Given the description of an element on the screen output the (x, y) to click on. 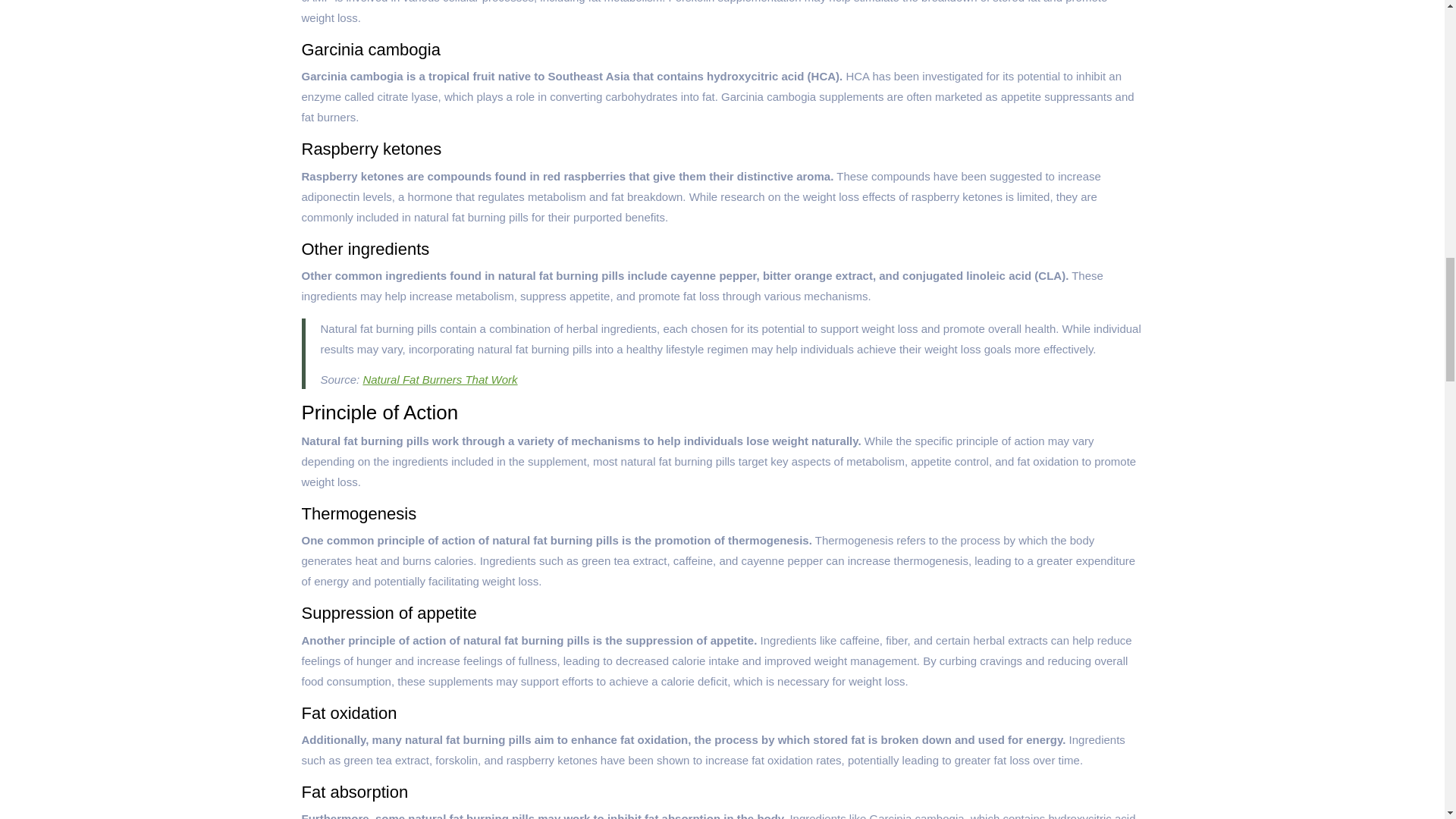
Natural Fat Burners That Work (439, 379)
